Given the description of an element on the screen output the (x, y) to click on. 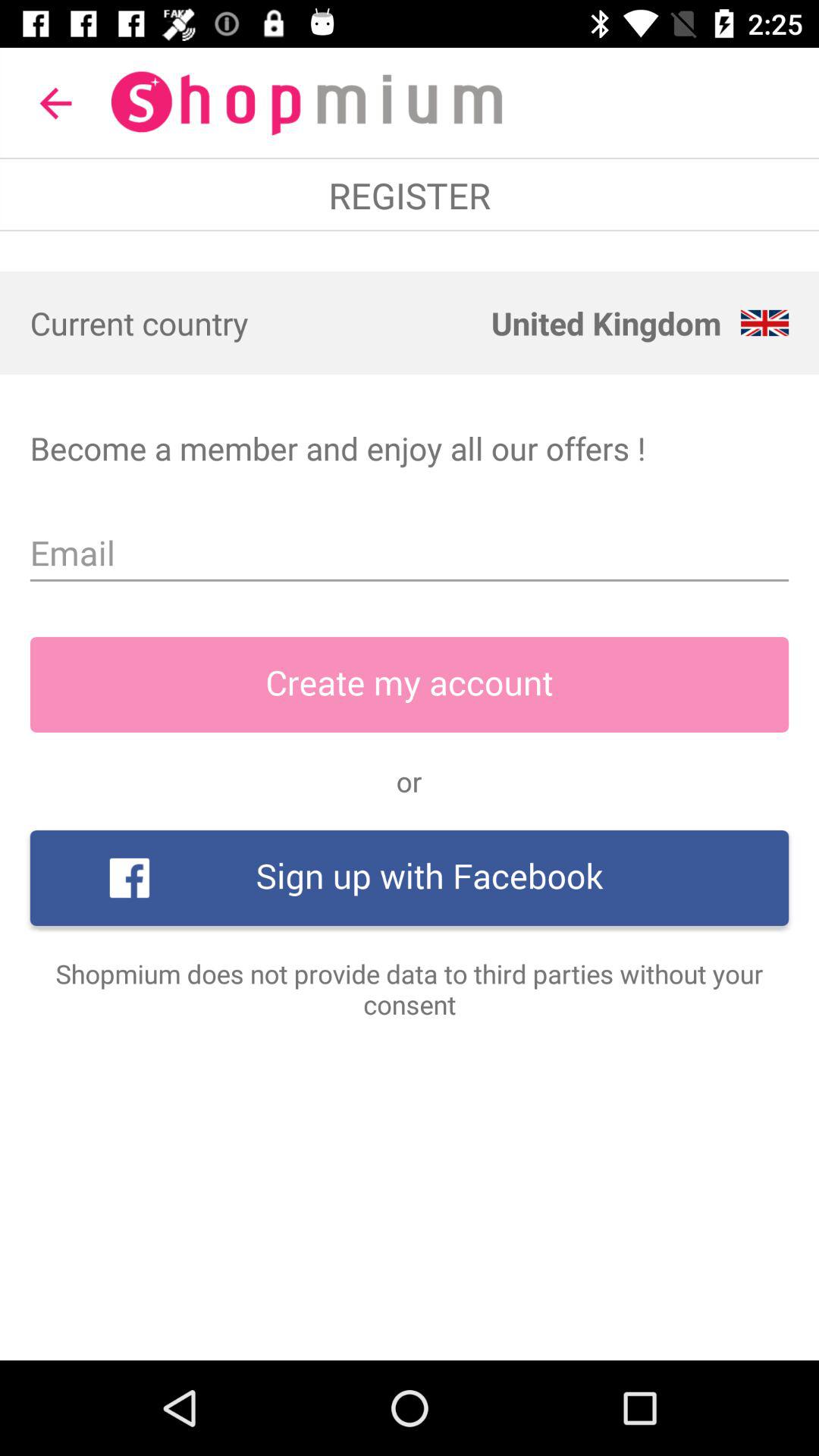
launch icon above the create my account icon (409, 553)
